Given the description of an element on the screen output the (x, y) to click on. 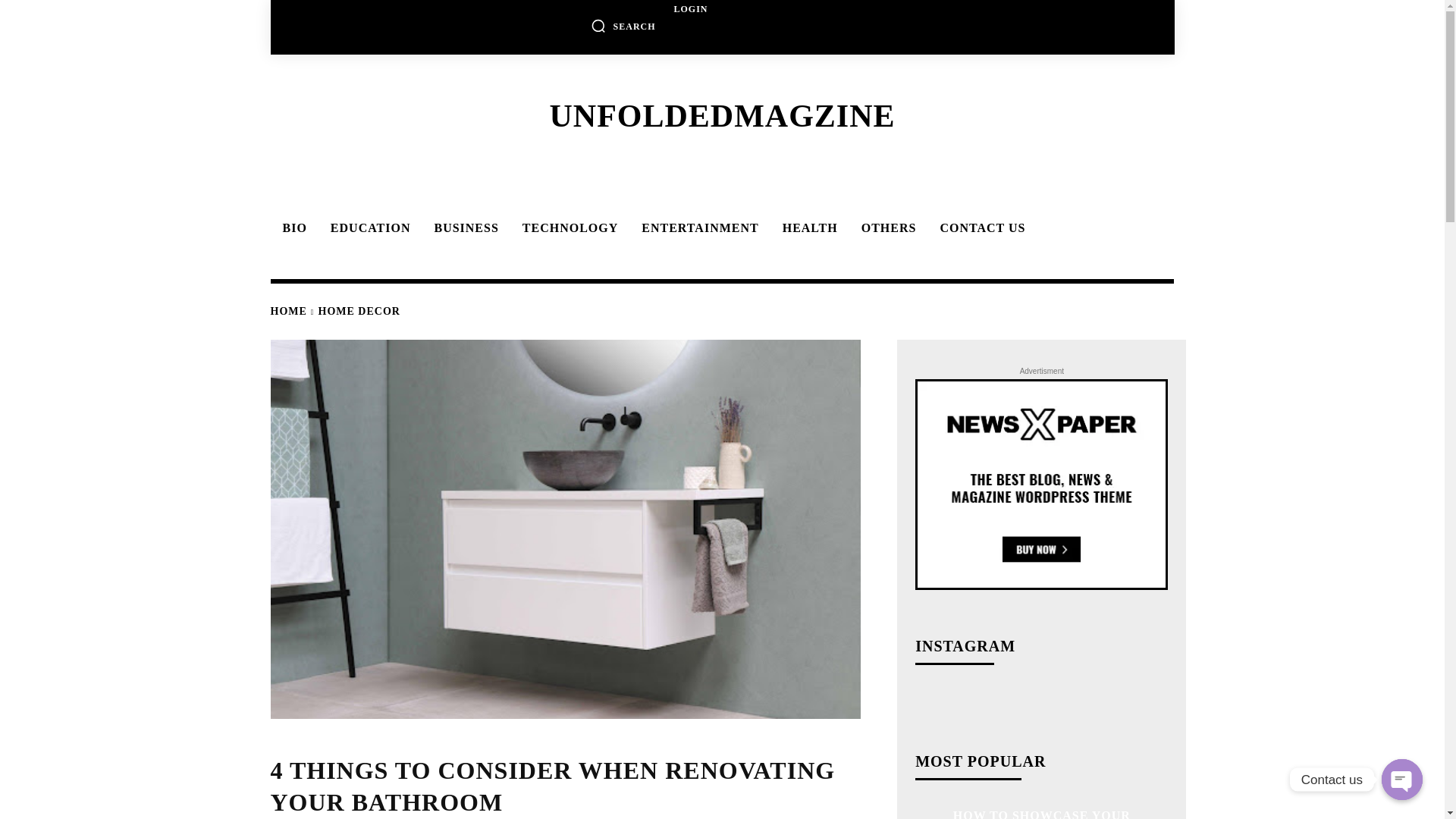
TECHNOLOGY (568, 227)
UNFOLDEDMAGZINE (721, 115)
HEALTH (807, 227)
SEARCH (623, 25)
ENTERTAINMENT (696, 227)
View all posts in Home decor (359, 310)
BUSINESS (463, 227)
LOGIN (689, 8)
EDUCATION (368, 227)
BIO (291, 227)
